Given the description of an element on the screen output the (x, y) to click on. 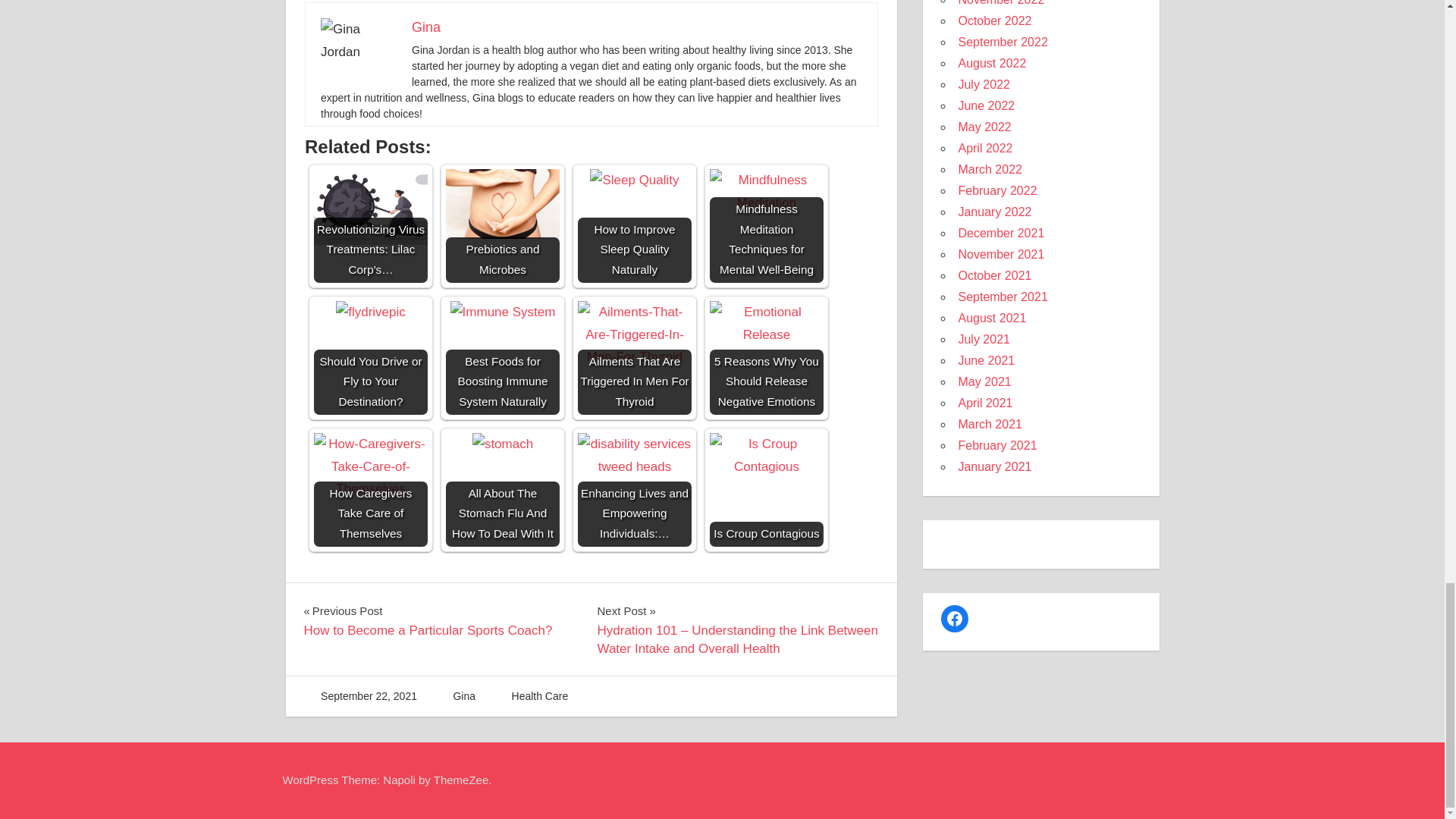
Should You Drive or Fly to Your Destination? (371, 357)
Gina (426, 27)
Mindfulness Meditation Techniques for Mental Well-Being (767, 191)
Best Foods for Boosting Immune System Naturally (502, 312)
How to Improve Sleep Quality Naturally (634, 225)
5 Reasons Why You Should Release Negative Emotions (767, 357)
How Caregivers Take Care of Themselves (371, 490)
Ailments That Are Triggered In Men For Thyroid (634, 334)
Gina Jordan (358, 40)
Prebiotics and Microbes (502, 203)
Ailments That Are Triggered In Men For Thyroid (634, 357)
Should You Drive or Fly to Your Destination? (371, 312)
5 Reasons Why You Should Release Negative Emotions (767, 323)
